Given the description of an element on the screen output the (x, y) to click on. 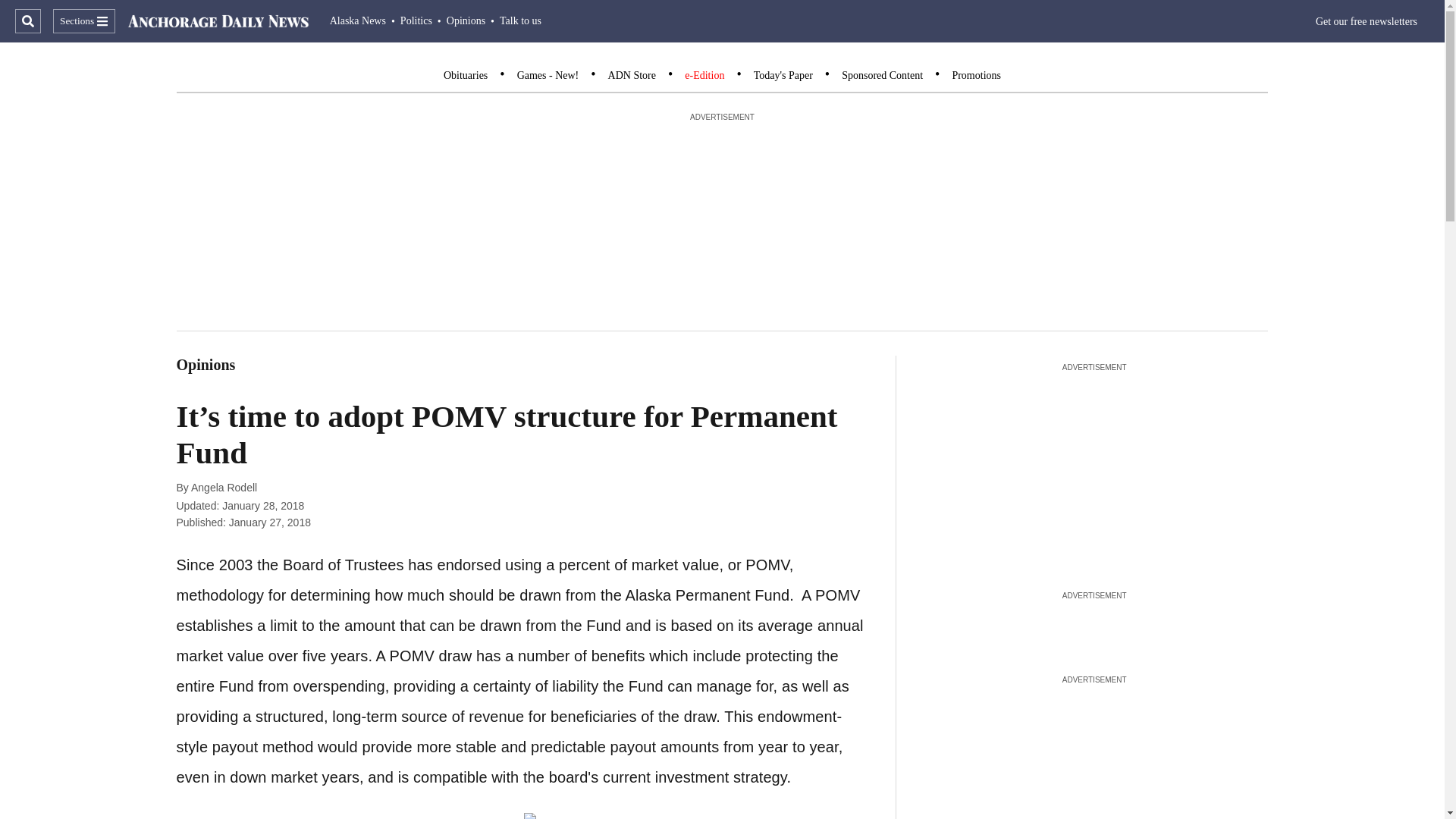
ADN Logo (218, 20)
Politics (416, 20)
Opinions (465, 20)
Sections (83, 21)
Get our free newsletters (1366, 21)
Alaska News (357, 20)
